Given the description of an element on the screen output the (x, y) to click on. 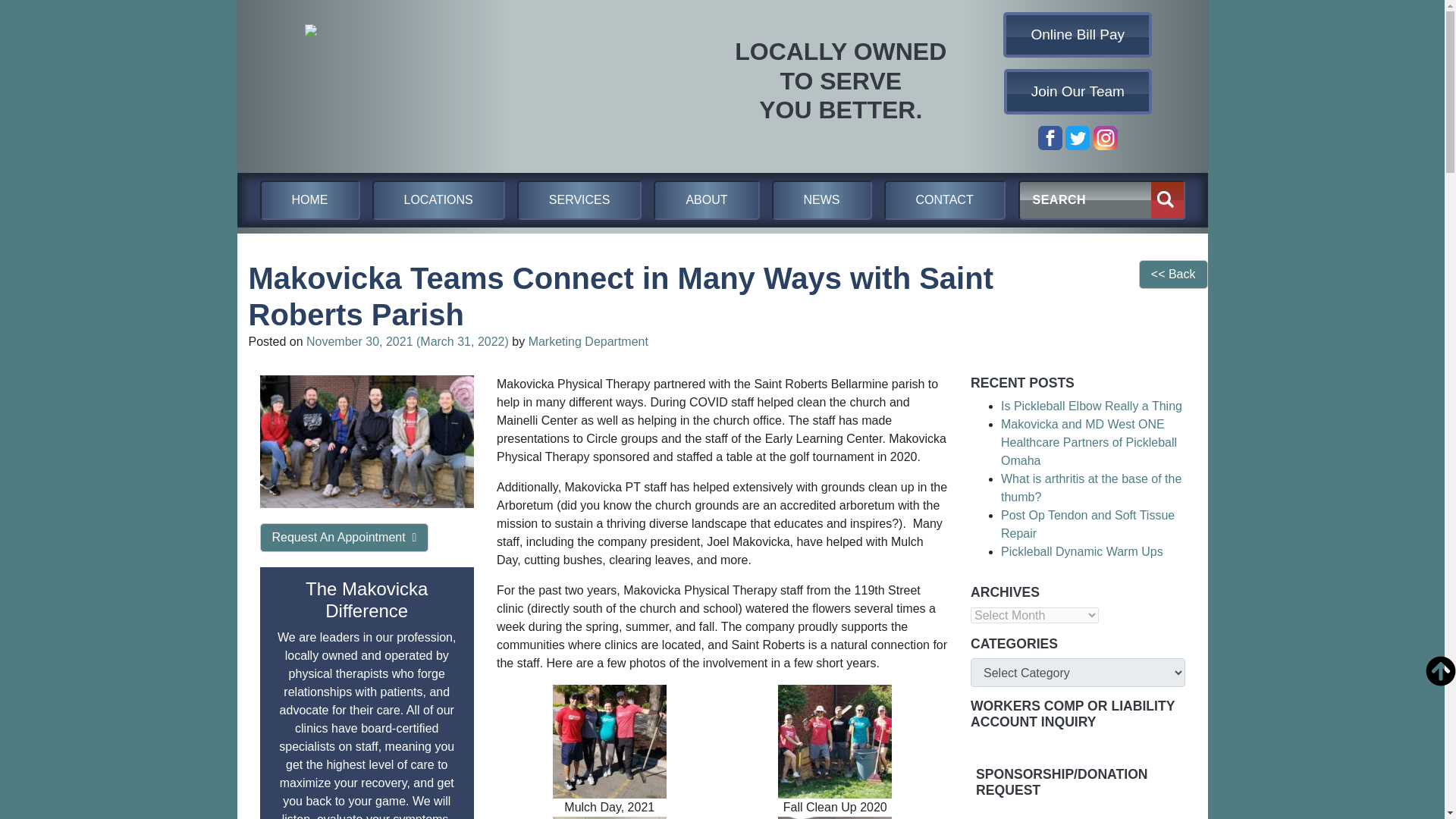
HOME (309, 199)
Make a Payment (1077, 34)
Join Our Team (1077, 91)
Online Bill Pay (1077, 34)
Join Our Team (1077, 91)
Makovicka Physical Therapy (459, 81)
SERVICES (579, 199)
LOCATIONS (437, 199)
NEWS (821, 199)
ABOUT (706, 199)
